Given the description of an element on the screen output the (x, y) to click on. 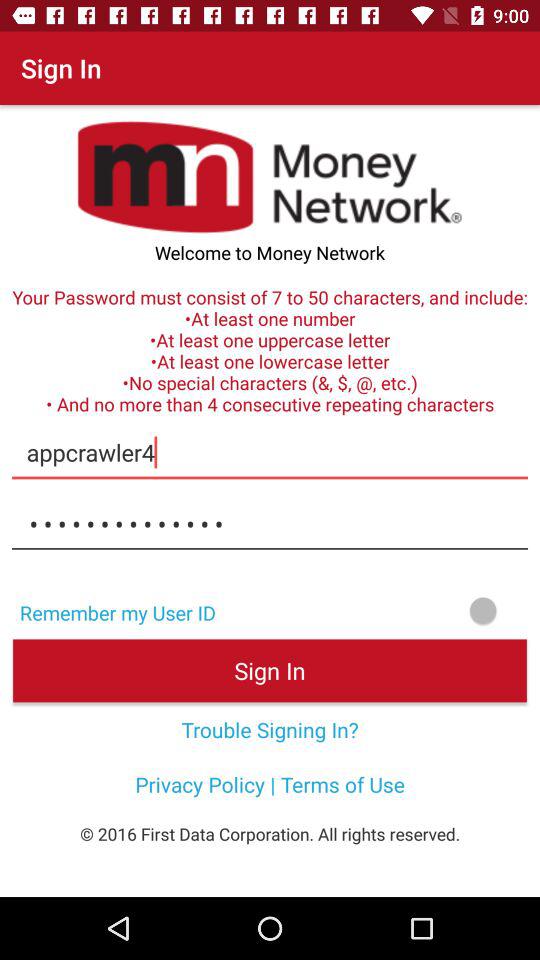
remember user id (384, 610)
